Given the description of an element on the screen output the (x, y) to click on. 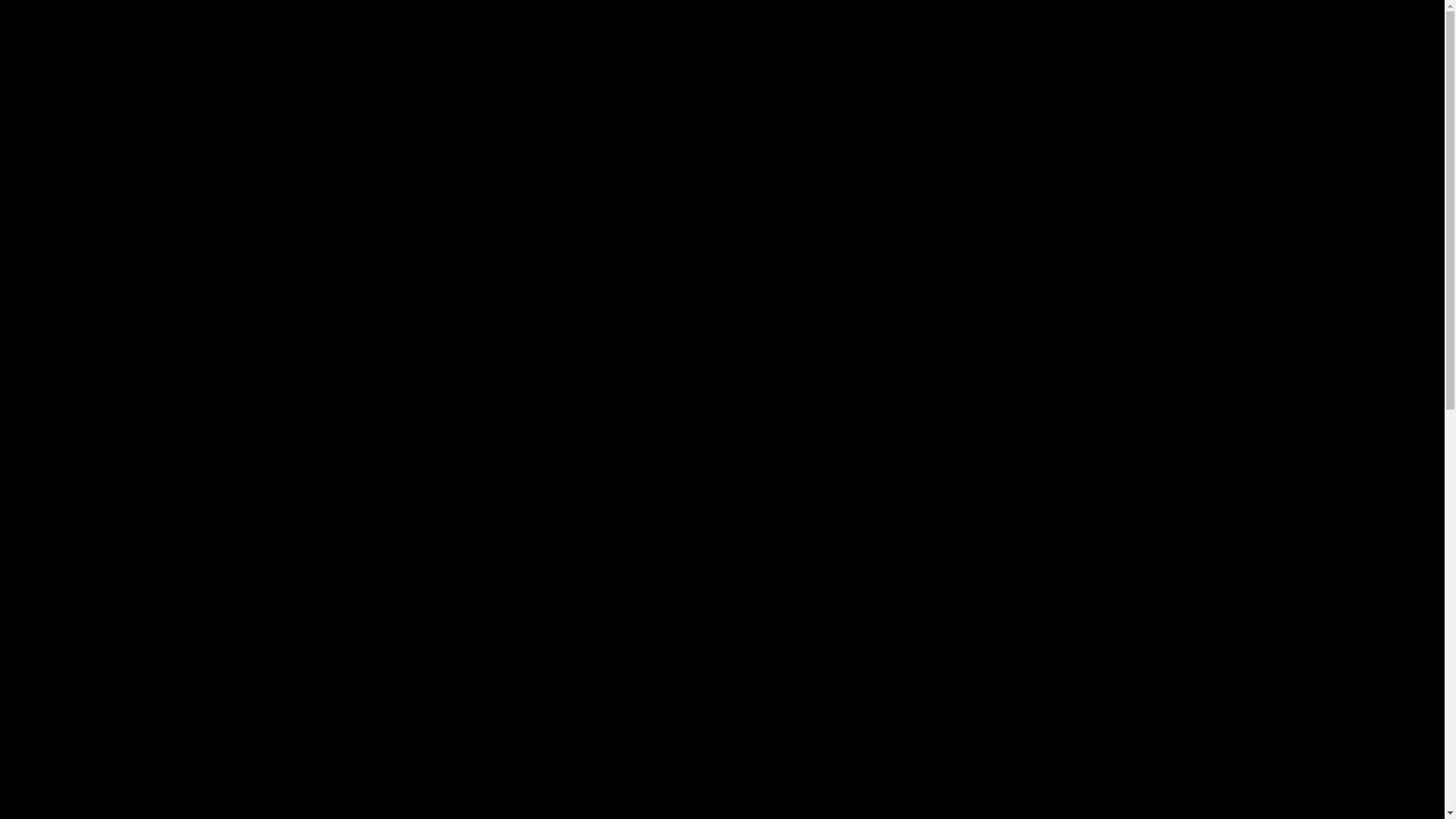
BROCHURE/TECHNICAL INFO Element type: text (874, 529)
COLLECTIONS Element type: text (232, 22)
WALLPAPERS Element type: text (152, 22)
ENQUIRE Element type: text (770, 636)
HOME Element type: text (88, 22)
INKIOSTRO BIANCO Element type: text (107, 109)
